Given the description of an element on the screen output the (x, y) to click on. 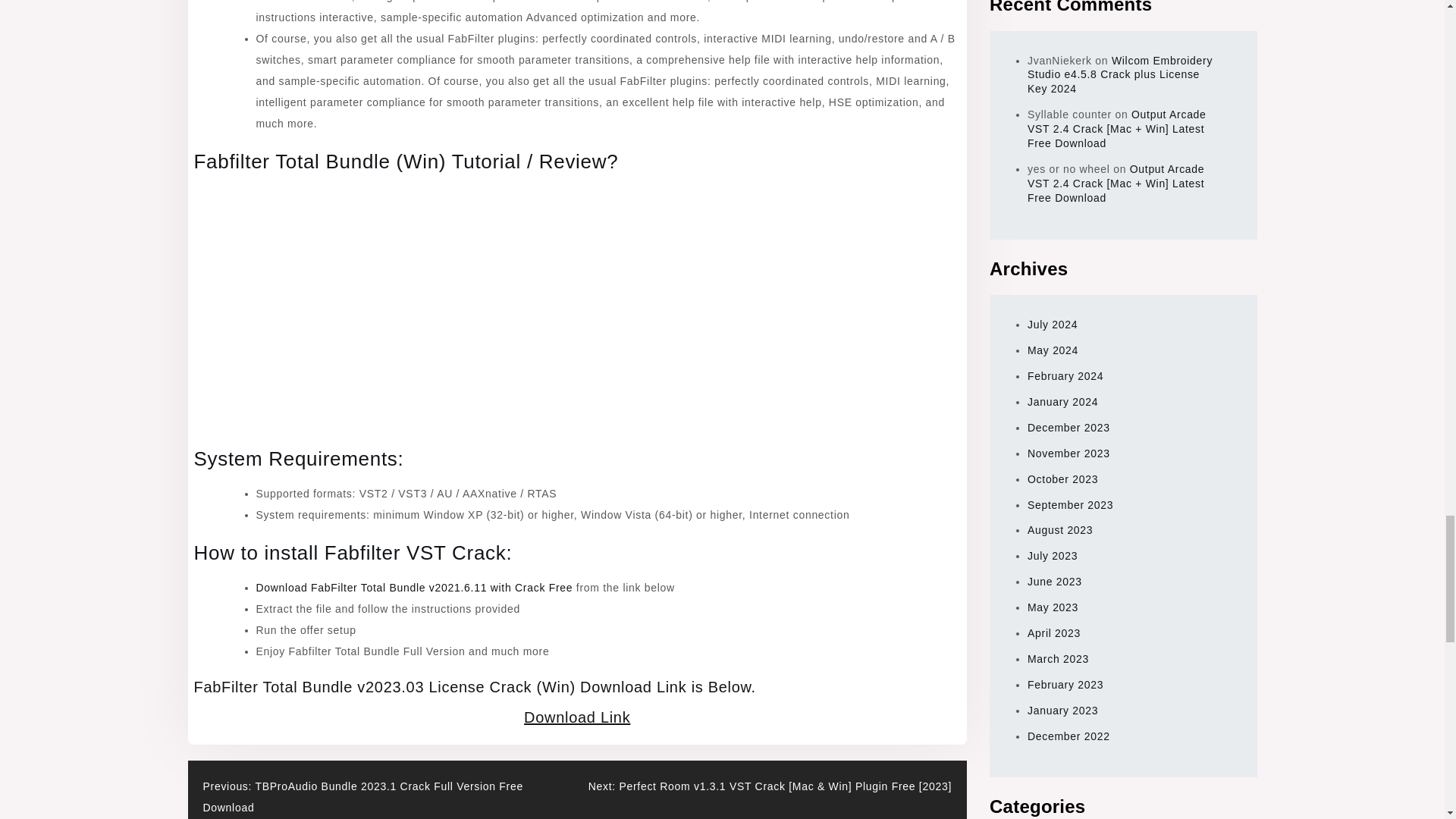
Download Link (577, 717)
Download FabFilter Total Bundle v2021.6.11 with Crack Free (414, 587)
